Given the description of an element on the screen output the (x, y) to click on. 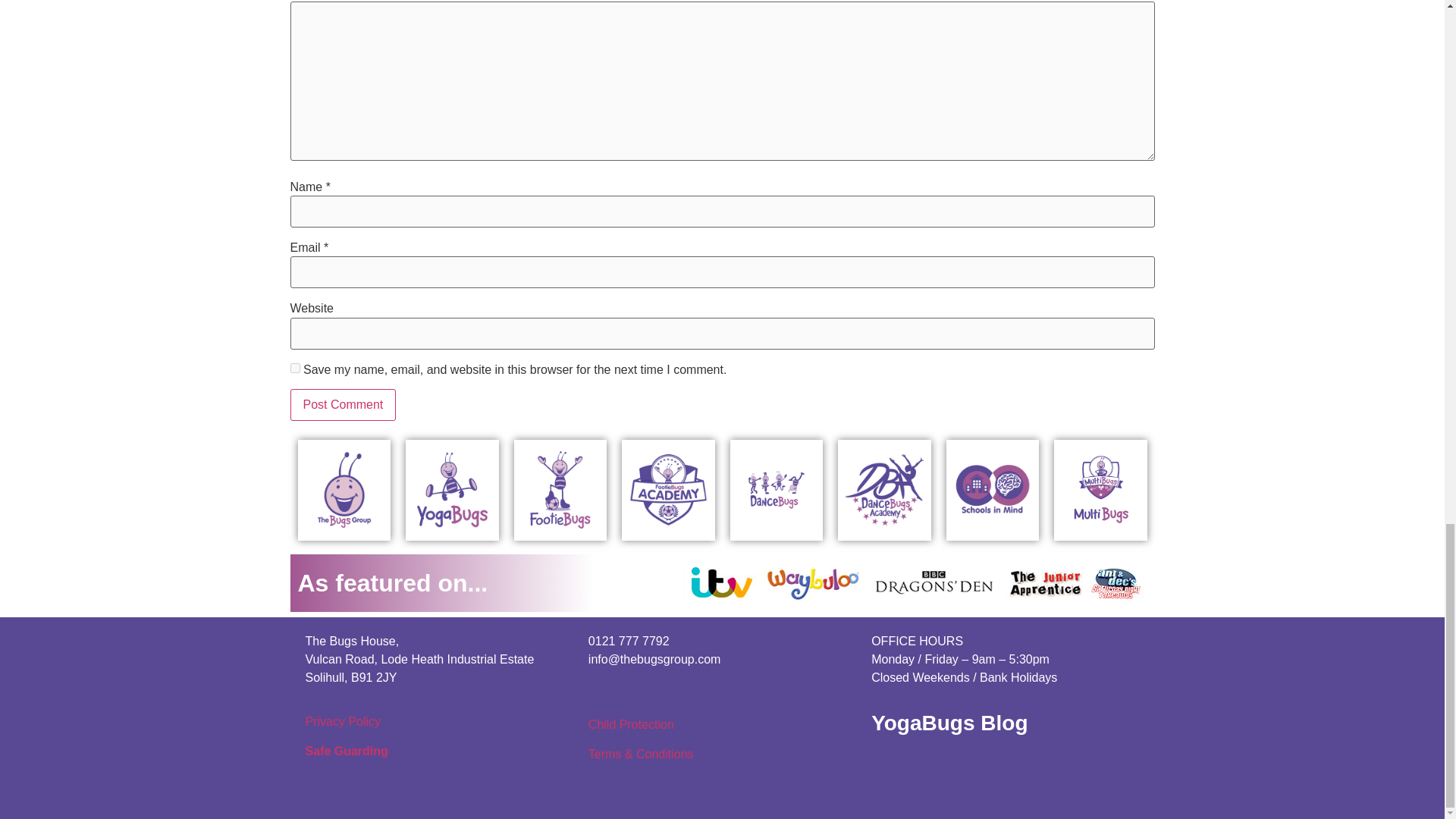
Privacy Policy (342, 721)
Post Comment (342, 404)
Post Comment (342, 404)
Child Protection (631, 724)
yes (294, 368)
Safe Guarding (345, 750)
YogaBugs Blog (948, 722)
